Given the description of an element on the screen output the (x, y) to click on. 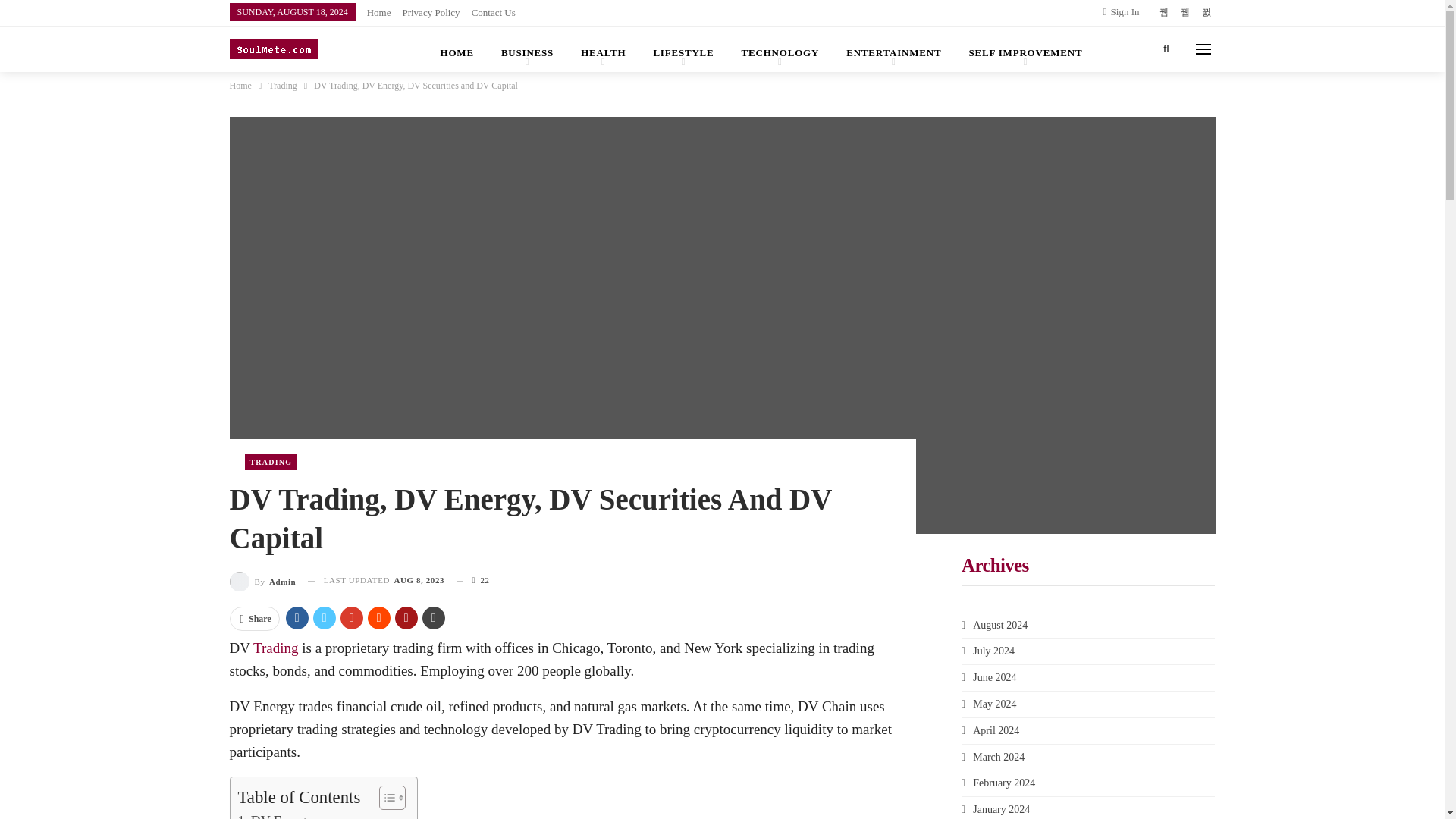
LIFESTYLE (682, 49)
HOME (456, 49)
DV Energy (275, 814)
Contact Us (493, 12)
Sign In (1124, 12)
Home (378, 12)
TECHNOLOGY (780, 49)
Privacy Policy (430, 12)
Browse Author Articles (261, 580)
